Given the description of an element on the screen output the (x, y) to click on. 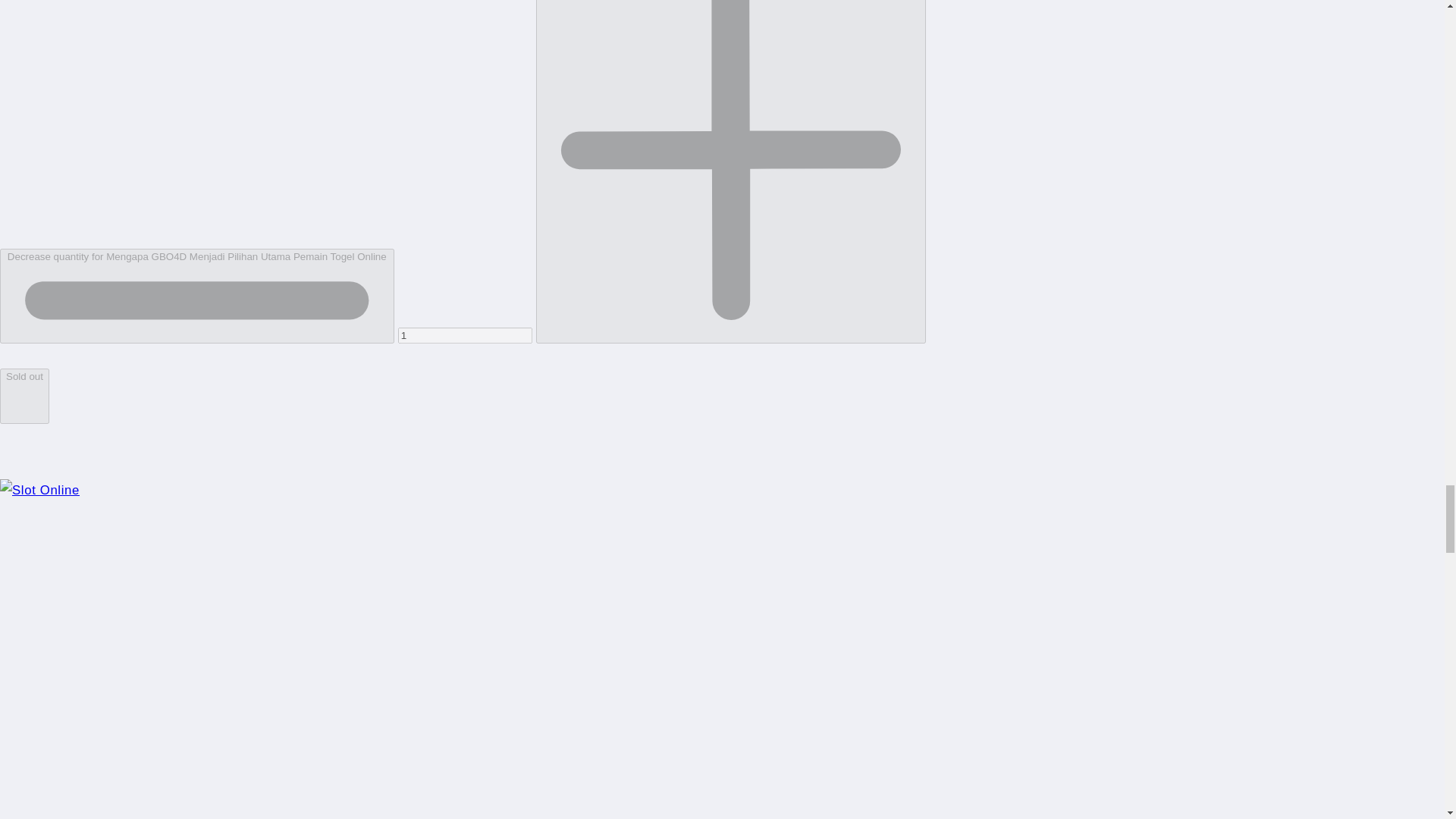
1 (464, 335)
Sold out (24, 396)
